Given the description of an element on the screen output the (x, y) to click on. 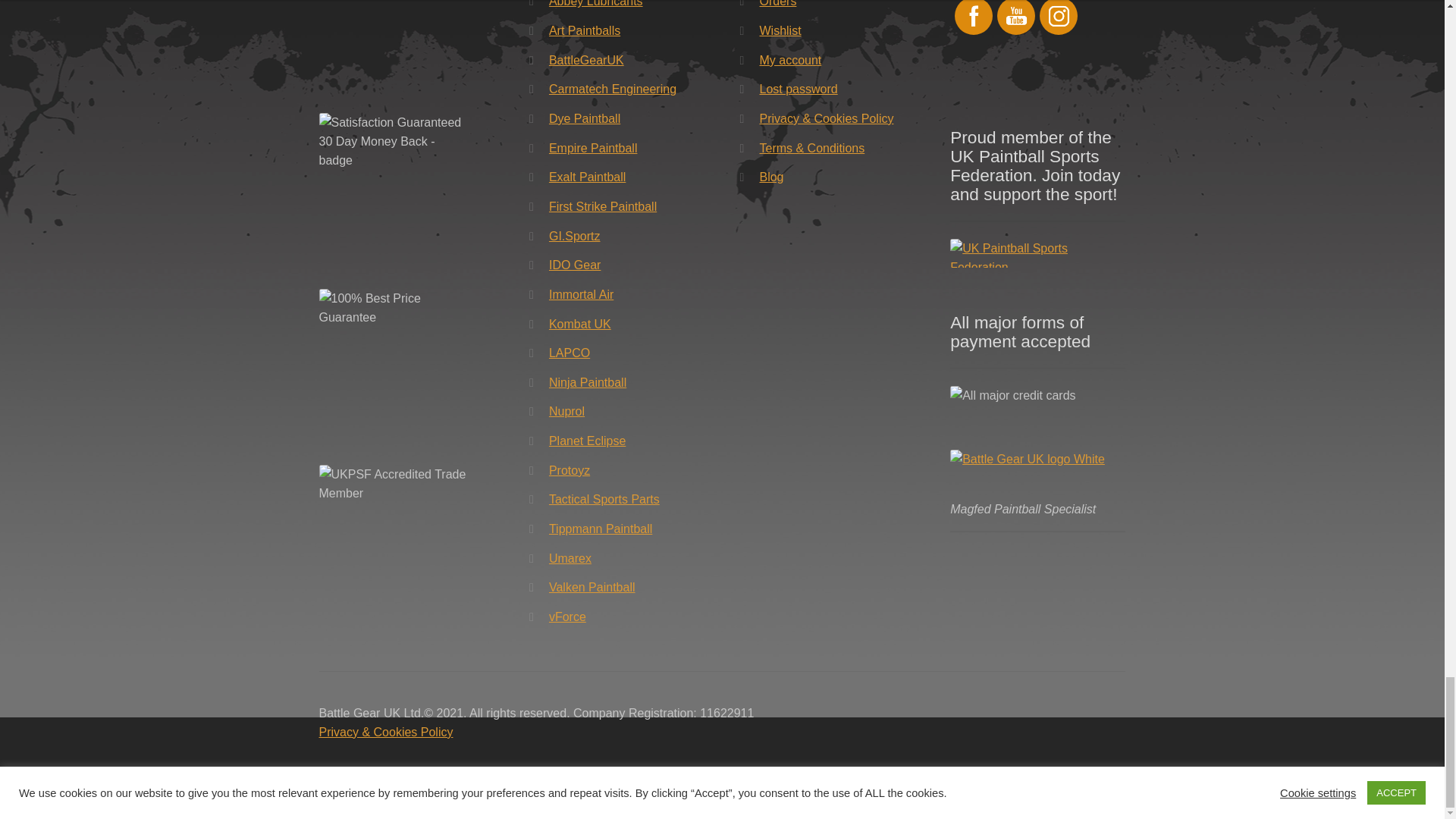
Instagram (1058, 16)
Facebook (973, 16)
